Given the description of an element on the screen output the (x, y) to click on. 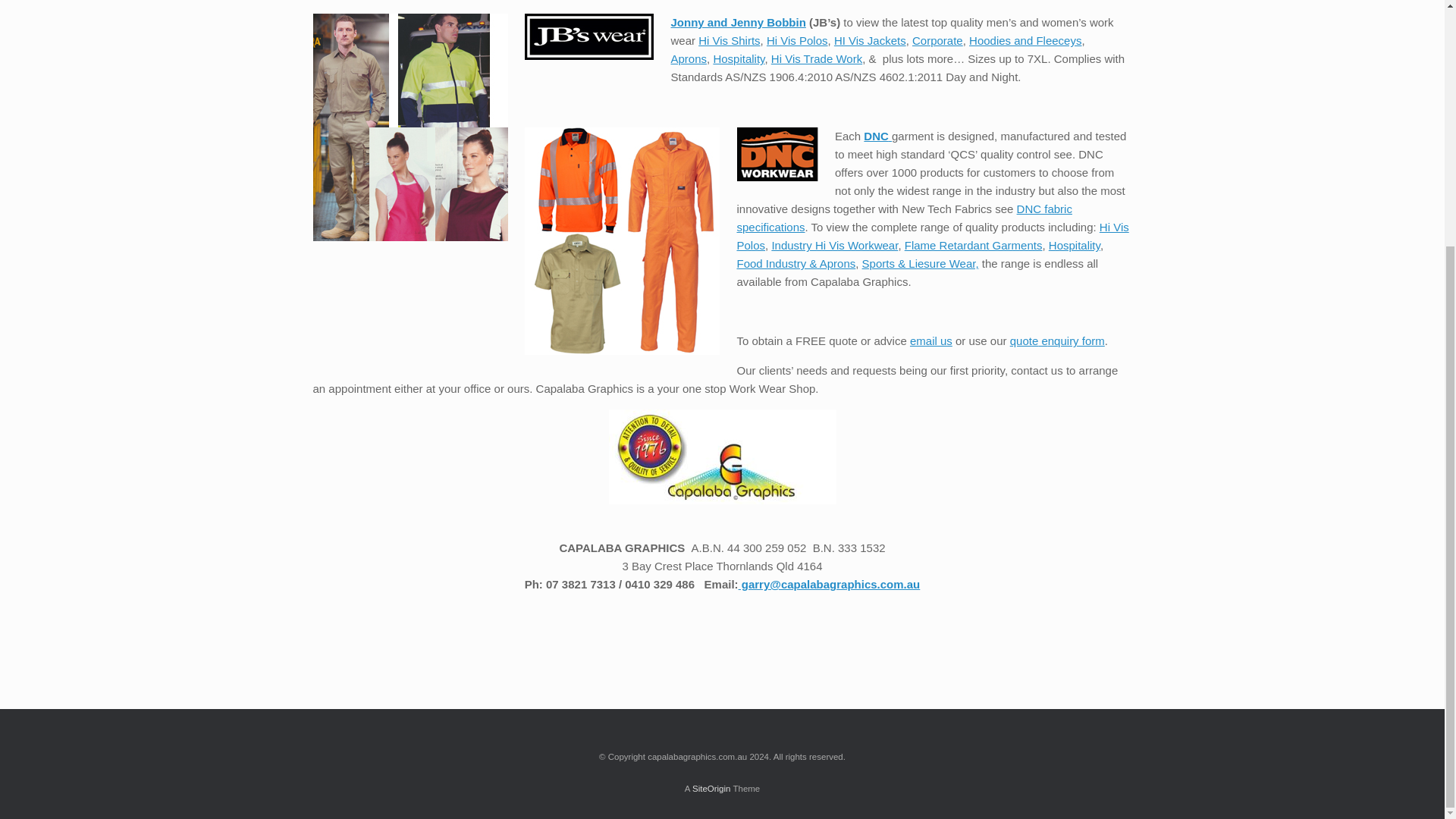
Aprons (687, 58)
Hospitality (738, 58)
Hoodies and Fleeceys (1025, 40)
Corporate (937, 40)
Hi Vis Shirts (729, 40)
Jonny and Jenny Bobbin (737, 21)
Hi Vis Trade Work (816, 58)
DNC fabric specifications (903, 217)
HI Vis Jackets (869, 40)
DNC (877, 135)
Hi Vis Polos (797, 40)
